Given the description of an element on the screen output the (x, y) to click on. 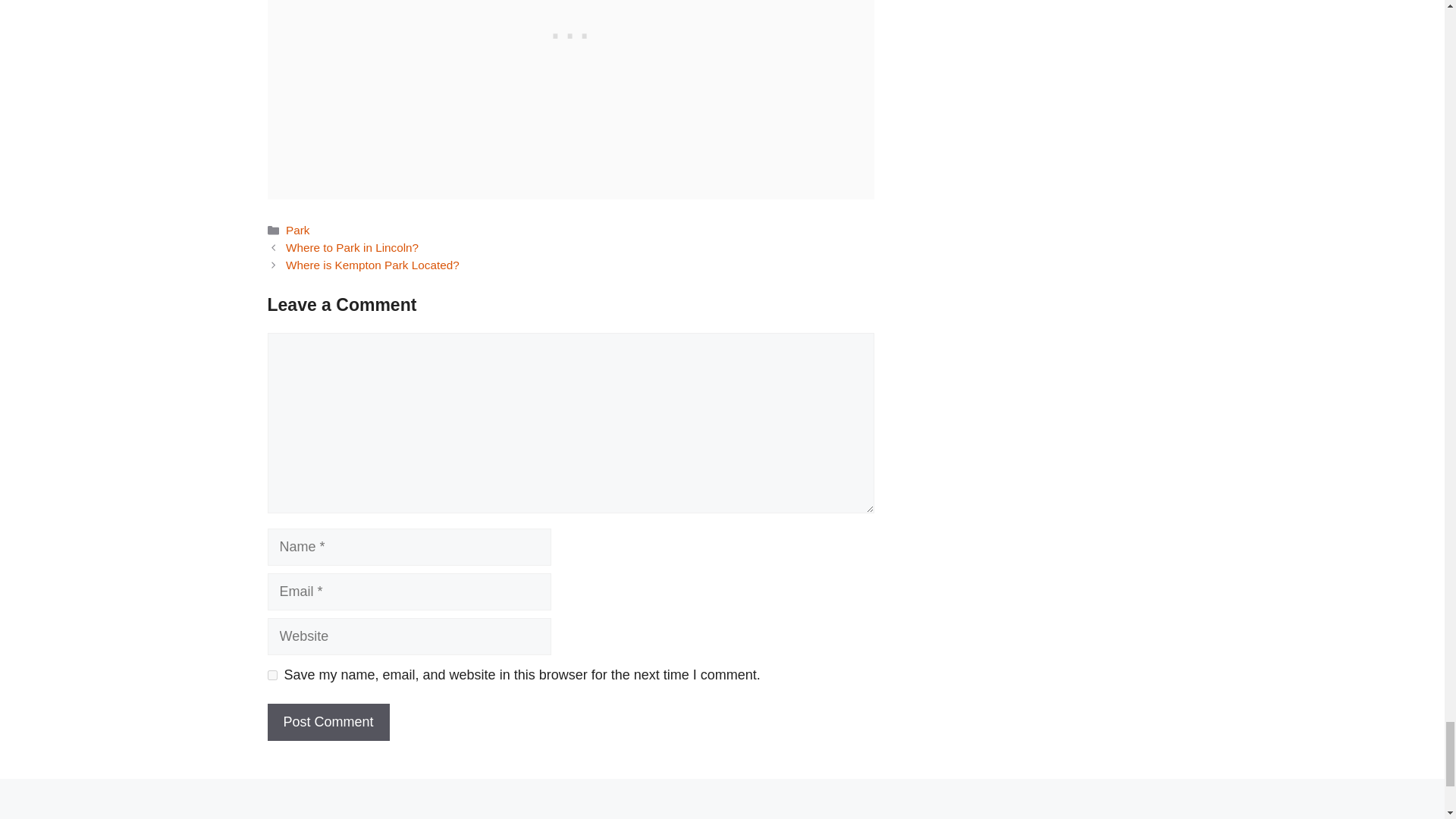
Park (296, 229)
Where to Park in Lincoln? (352, 246)
yes (271, 675)
Post Comment (327, 722)
Post Comment (327, 722)
Where is Kempton Park Located? (372, 264)
